Given the description of an element on the screen output the (x, y) to click on. 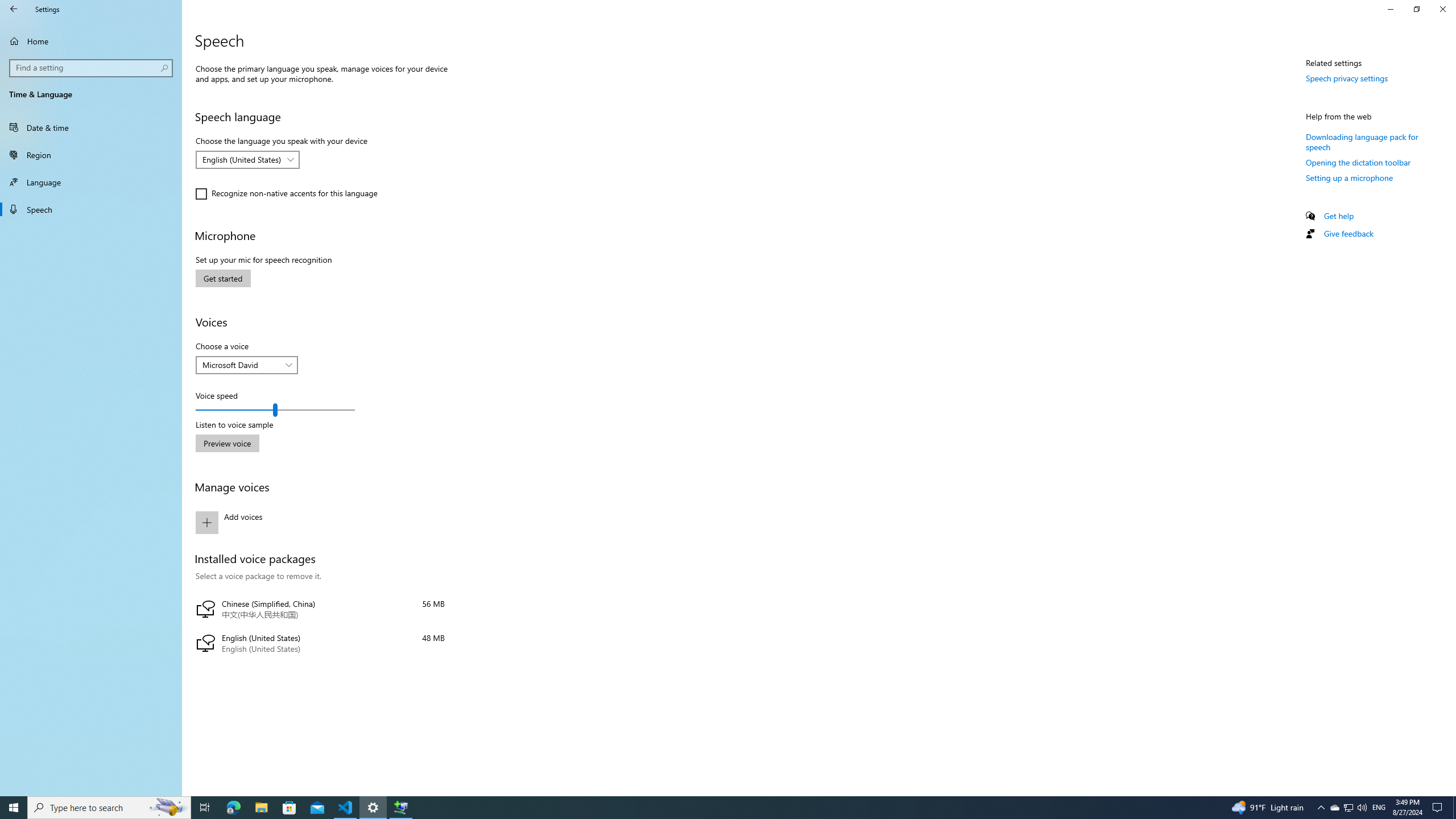
Speech privacy settings (1347, 77)
Voice speed (275, 410)
Search box, Find a setting (91, 67)
English (United States) English (United States) 48 MB (319, 643)
Tray Input Indicator - English (United States) (1378, 807)
User Promoted Notification Area (1347, 807)
Notification Chevron (1320, 807)
Minimize Settings (1390, 9)
File Explorer (261, 807)
Microsoft Store (289, 807)
English (United States) (241, 158)
Get help (1338, 215)
Action Center, No new notifications (1439, 807)
Opening the dictation toolbar (1358, 162)
